Given the description of an element on the screen output the (x, y) to click on. 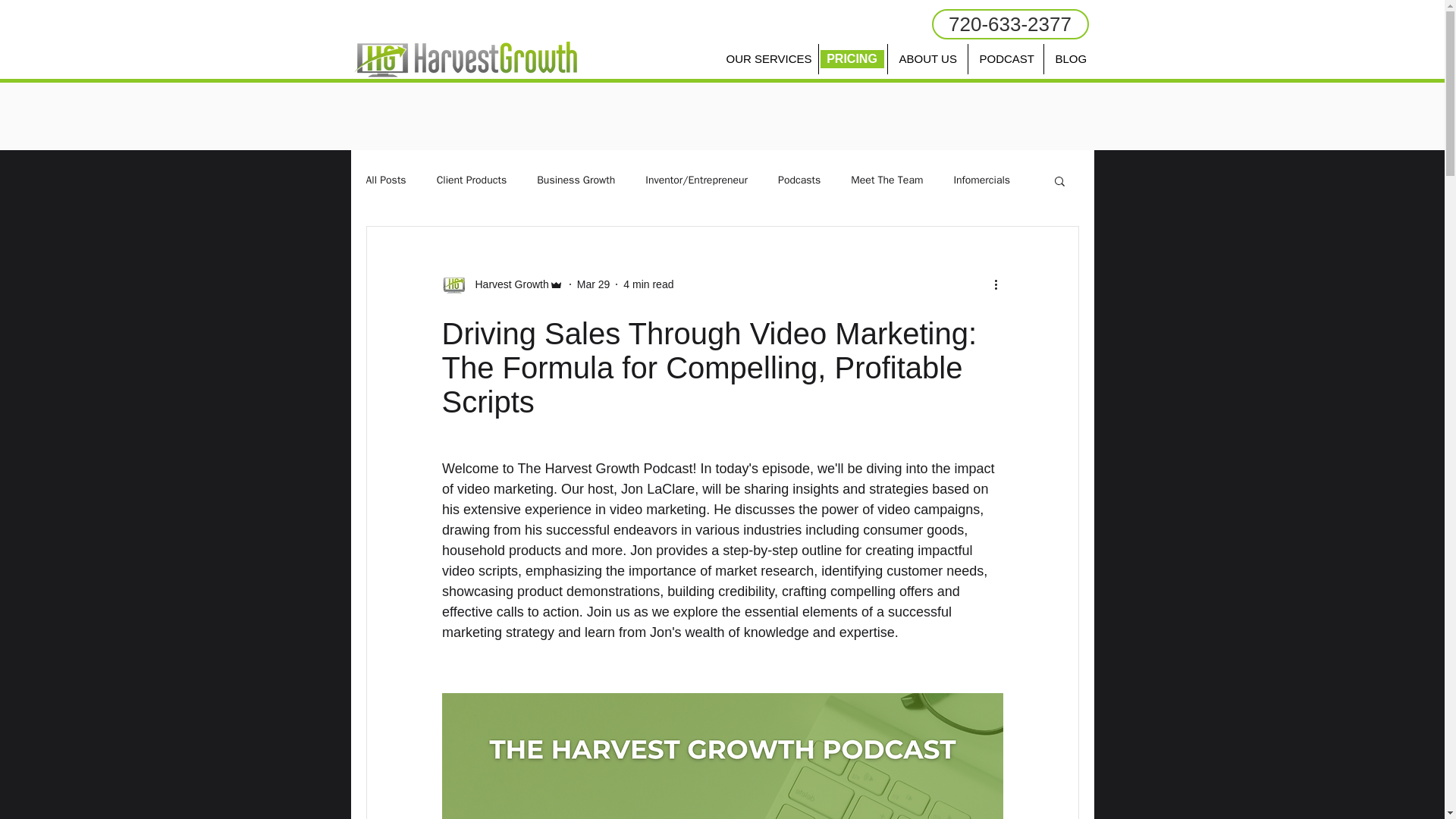
ABOUT US (926, 59)
Harvest Growth (501, 283)
4 min read (647, 283)
Business Growth (575, 180)
Meet The Team (886, 180)
PRICING (852, 59)
BLOG (1070, 59)
Infomercials (981, 180)
720-633-2377 (1009, 24)
Mar 29 (593, 283)
Harvest Growth (506, 283)
All Posts (385, 180)
Podcasts (799, 180)
OUR SERVICES (765, 59)
PRICING (852, 58)
